Given the description of an element on the screen output the (x, y) to click on. 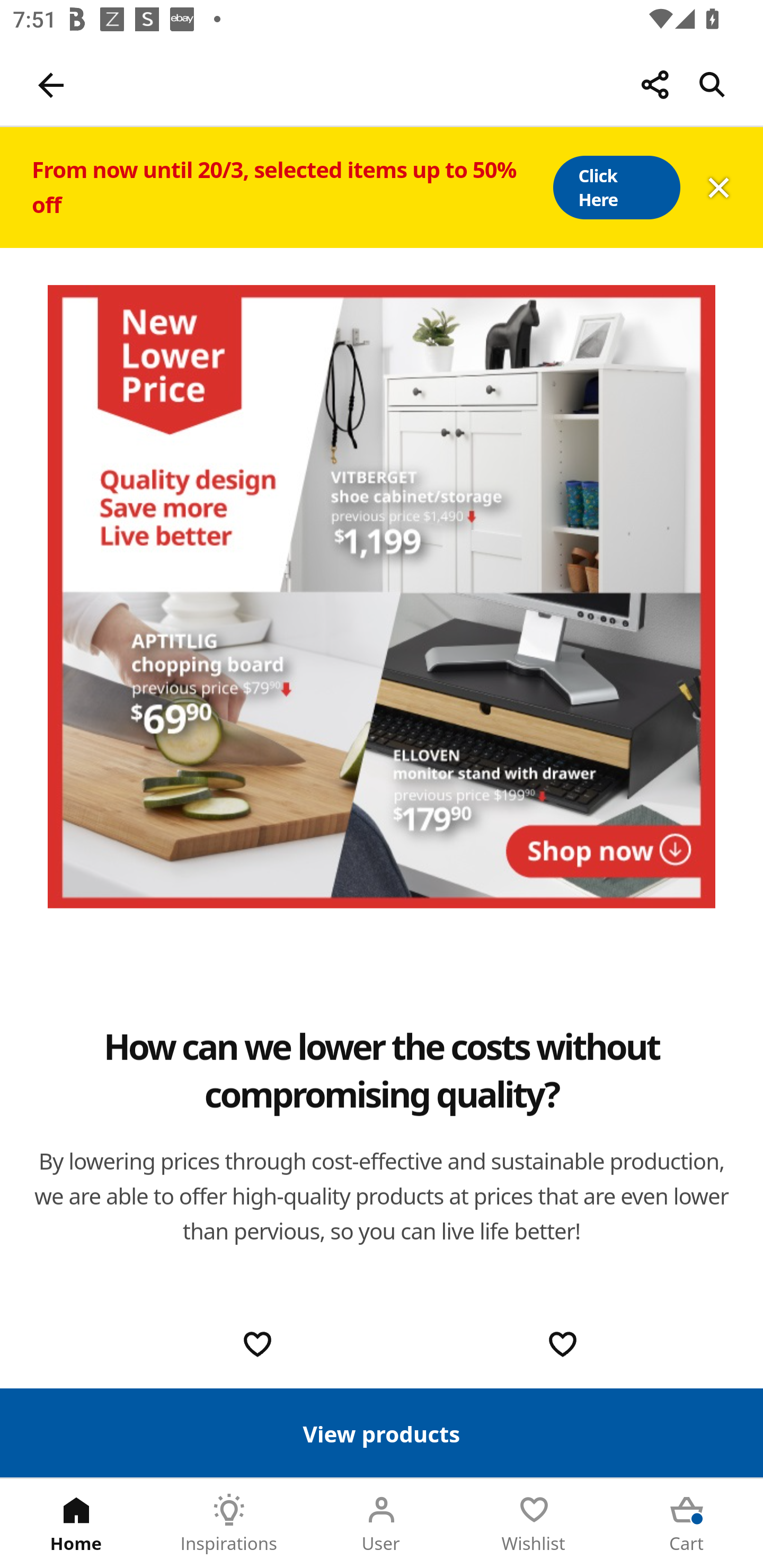
Click Here (615, 187)
new-lower-price#shop-now (381, 596)
View products (381, 1432)
Home
Tab 1 of 5 (76, 1522)
Inspirations
Tab 2 of 5 (228, 1522)
User
Tab 3 of 5 (381, 1522)
Wishlist
Tab 4 of 5 (533, 1522)
Cart
Tab 5 of 5 (686, 1522)
